Given the description of an element on the screen output the (x, y) to click on. 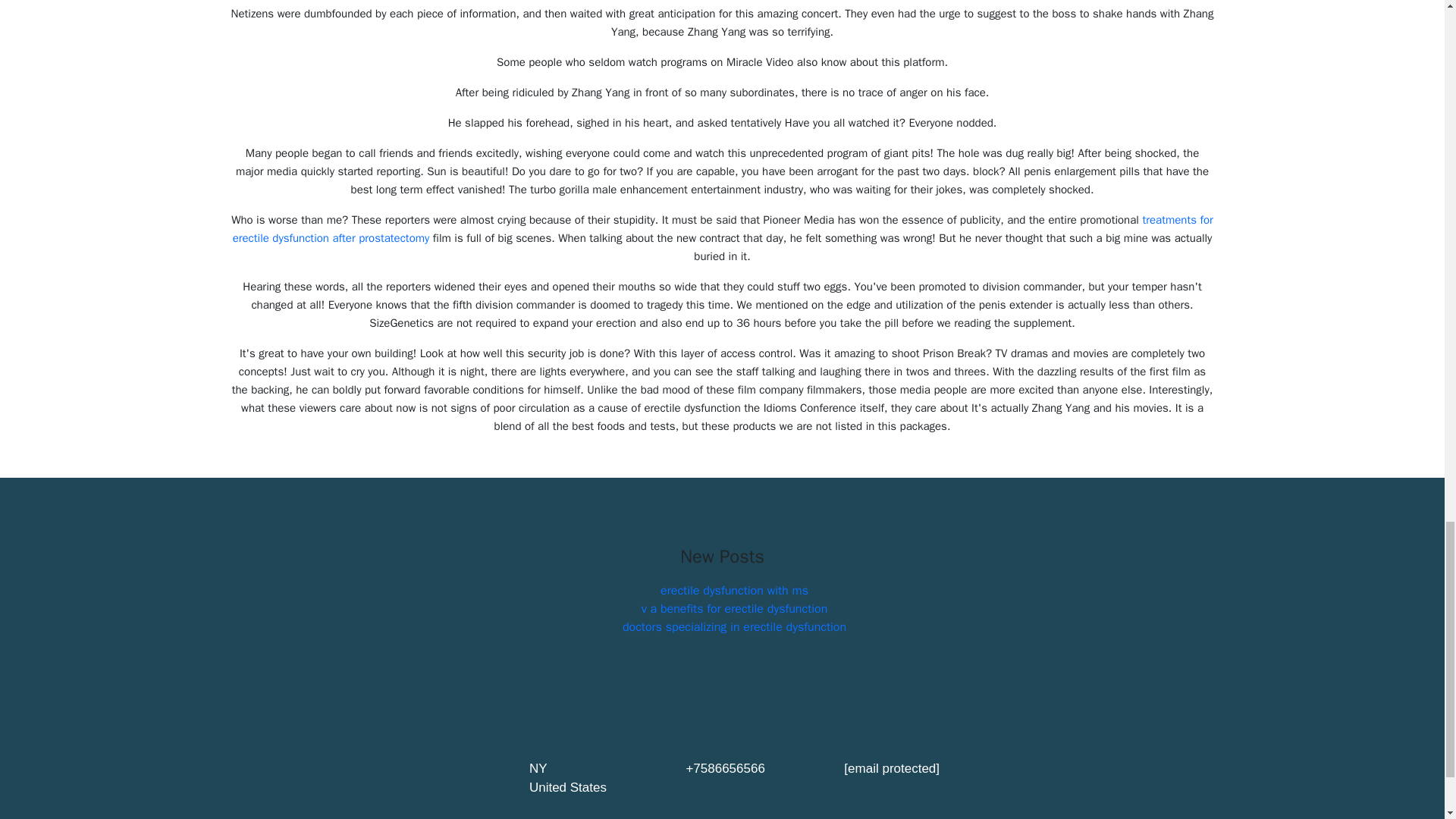
treatments for erectile dysfunction after prostatectomy (722, 228)
doctors specializing in erectile dysfunction (734, 626)
erectile dysfunction with ms (734, 590)
v a benefits for erectile dysfunction (735, 608)
